Given the description of an element on the screen output the (x, y) to click on. 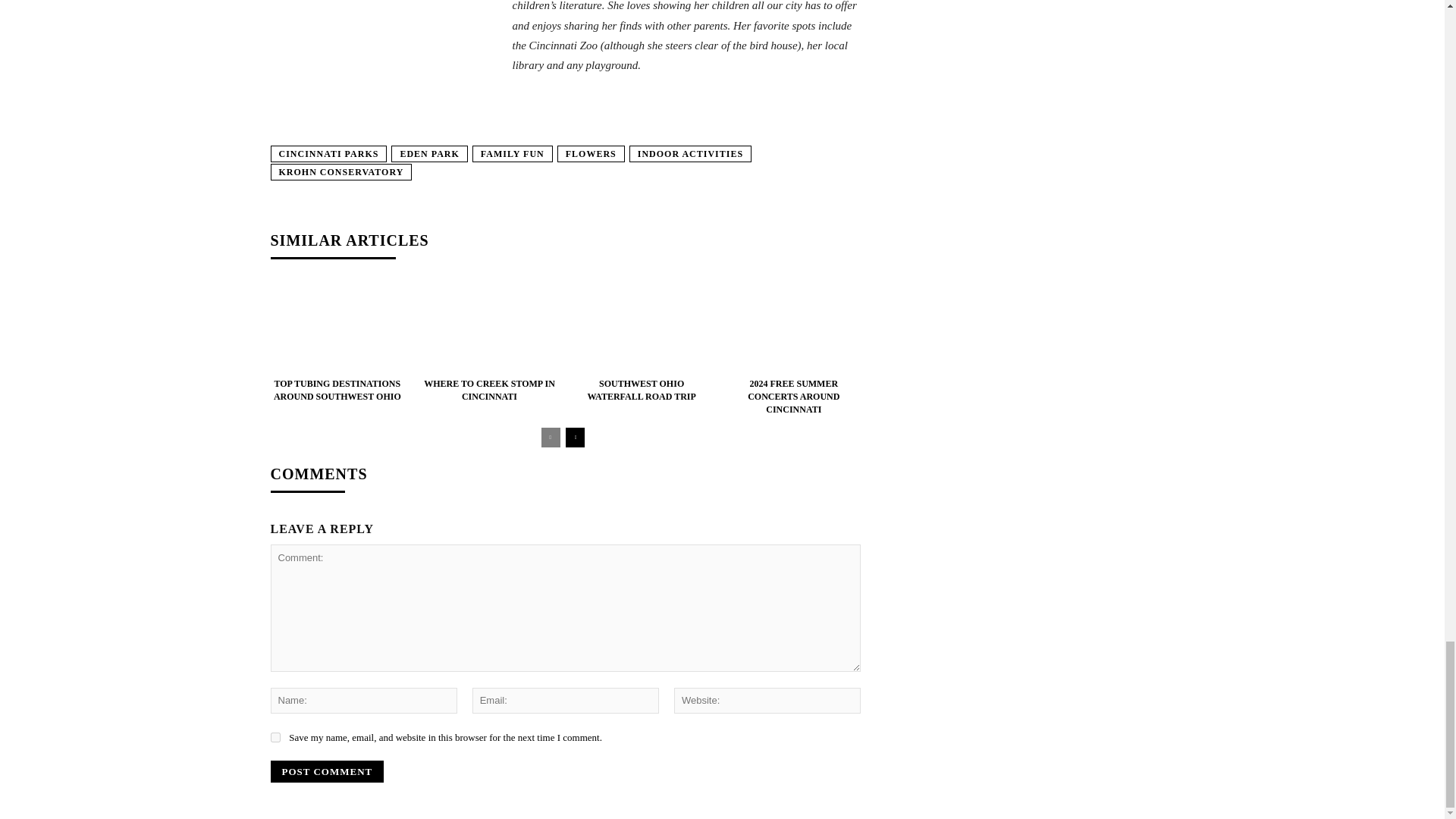
Post Comment (326, 771)
Top Tubing Destinations Around Southwest Ohio (336, 325)
Southwest Ohio Waterfall Road Trip (642, 325)
Where to Creek Stomp in Cincinnati (489, 325)
yes (274, 737)
Top Tubing Destinations Around Southwest Ohio (337, 390)
Where to Creek Stomp in Cincinnati (488, 390)
